Given the description of an element on the screen output the (x, y) to click on. 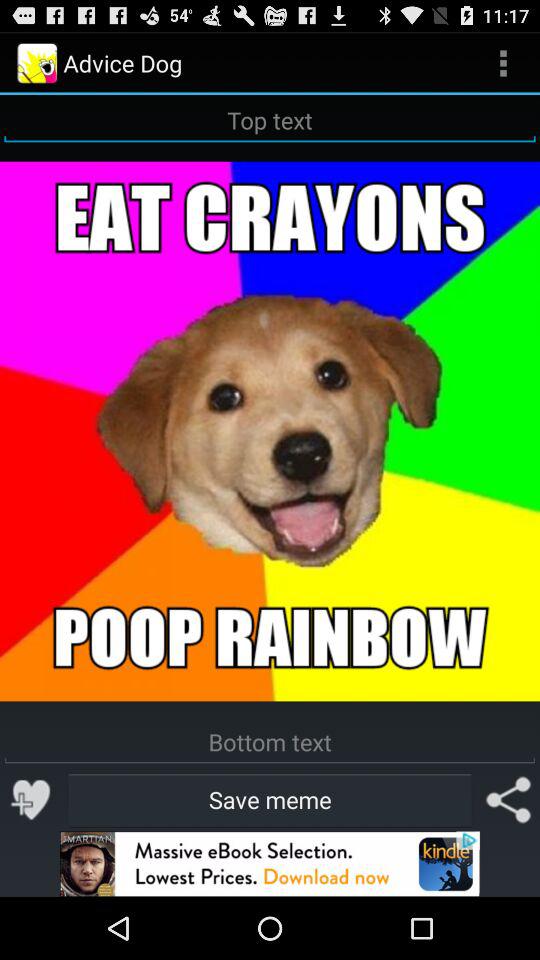
share meme (508, 799)
